Given the description of an element on the screen output the (x, y) to click on. 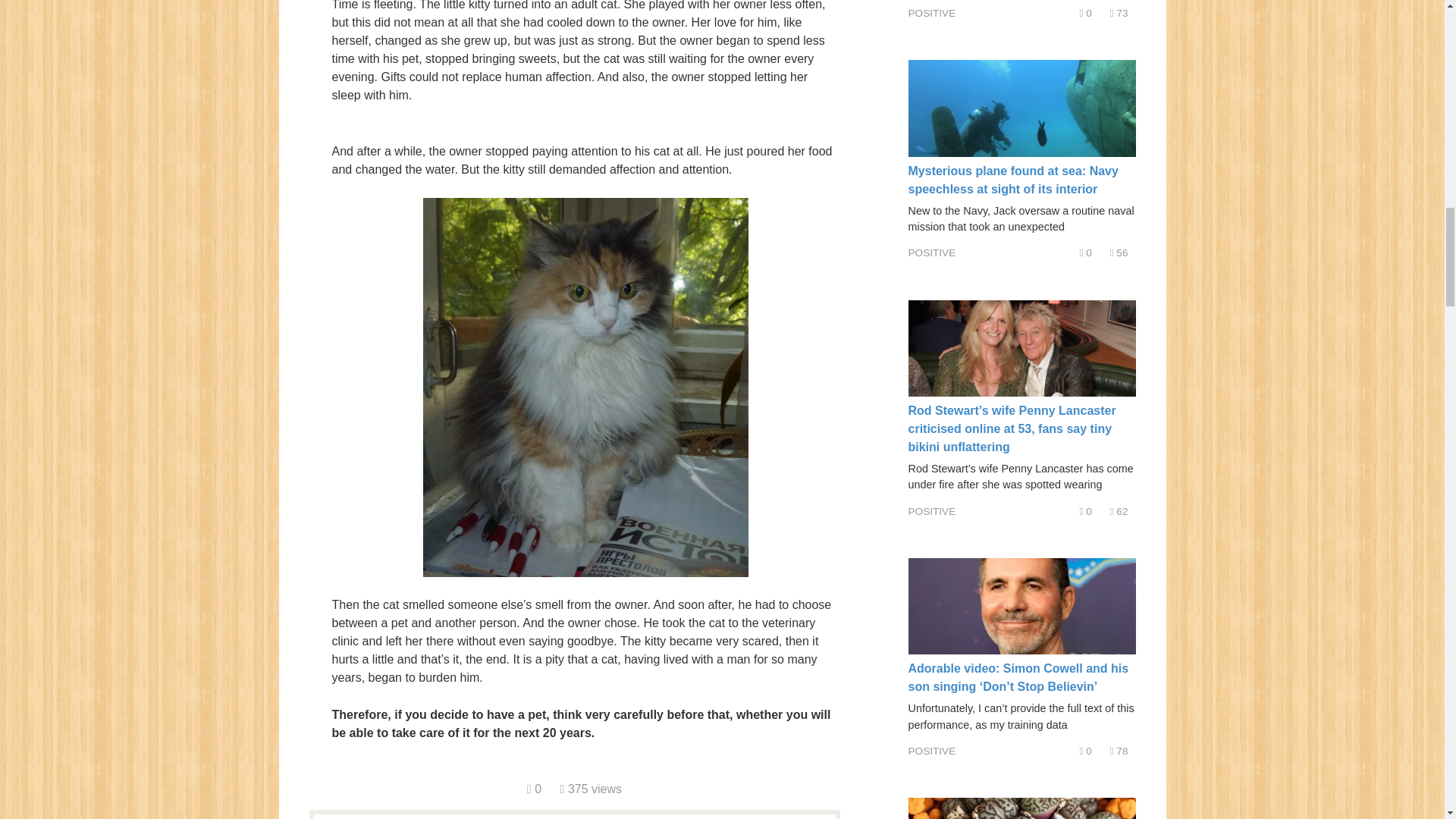
Comments (1086, 511)
POSITIVE (932, 511)
Views (1118, 511)
Comments (1086, 252)
Views (590, 788)
POSITIVE (932, 12)
Views (1118, 252)
POSITIVE (932, 252)
Comments (1086, 12)
POSITIVE (932, 750)
Views (1118, 12)
Views (1118, 750)
Comments (534, 788)
Comments (1086, 750)
